Given the description of an element on the screen output the (x, y) to click on. 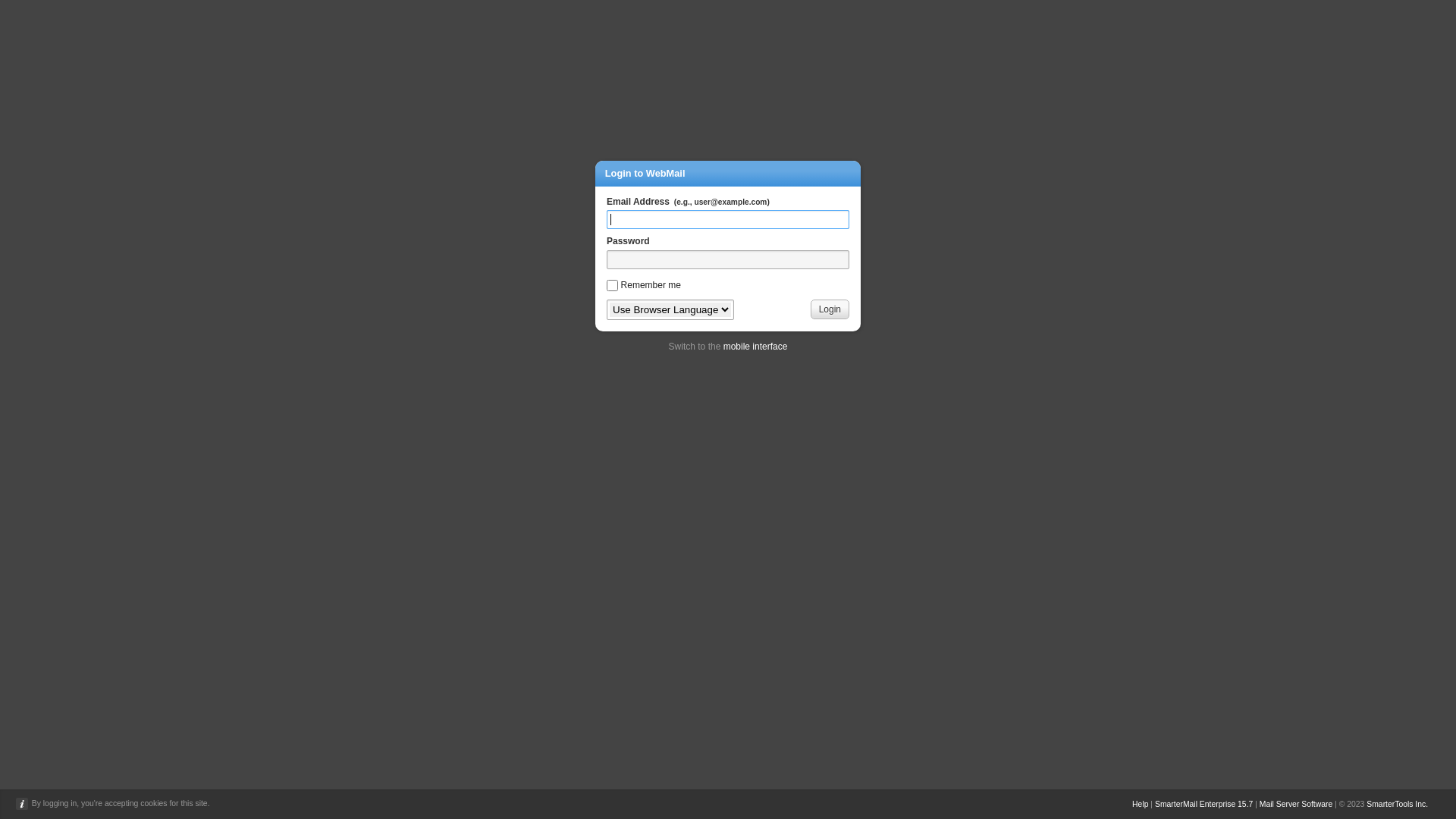
SmarterMail Enterprise 15.7 Element type: text (1203, 804)
Mail Server Software Element type: text (1295, 804)
SmarterTools Inc. Element type: text (1396, 804)
Help Element type: text (1140, 804)
Login Element type: text (829, 309)
mobile interface Element type: text (755, 346)
